Given the description of an element on the screen output the (x, y) to click on. 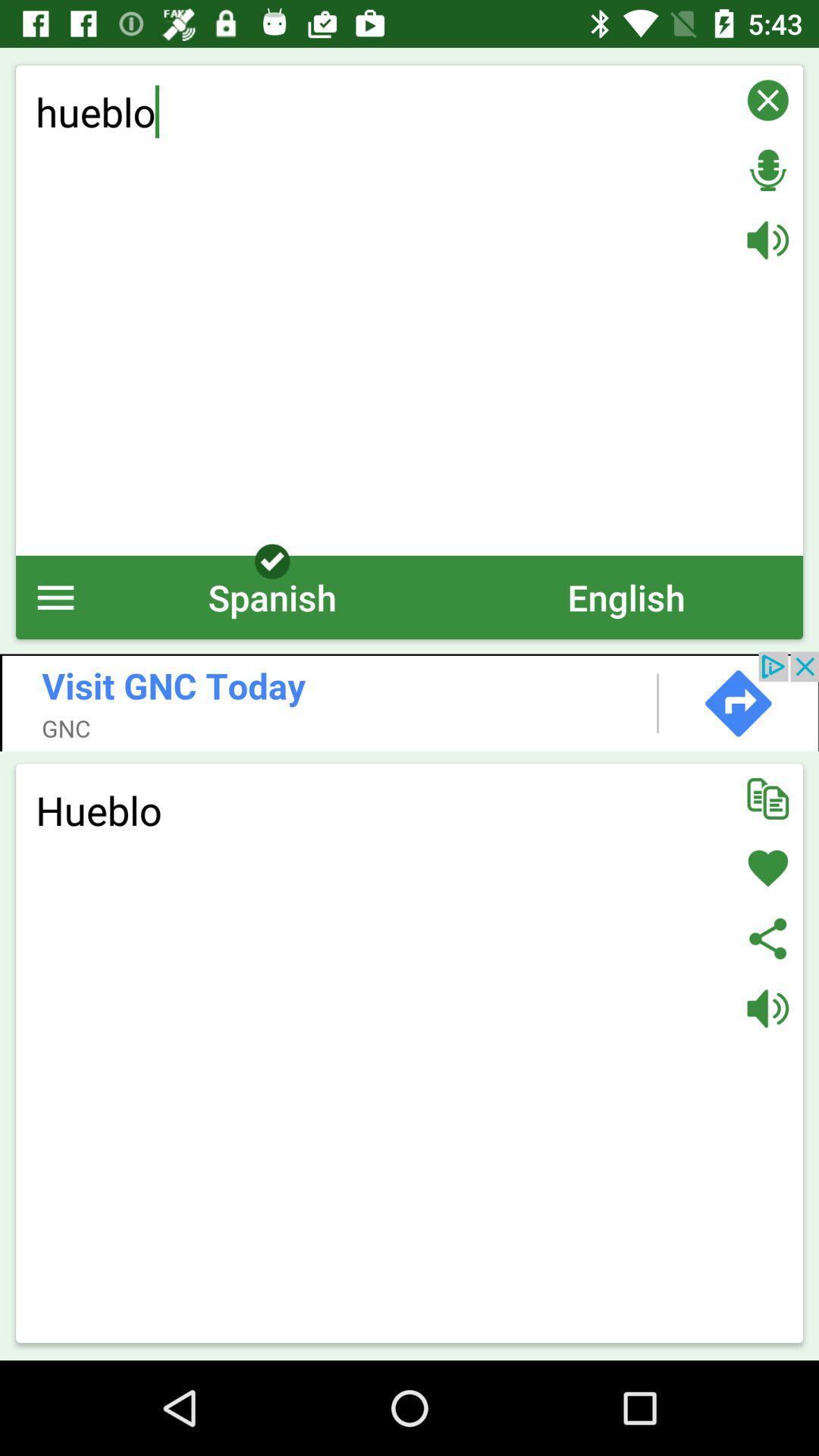
turn on item above hueblo (409, 701)
